Given the description of an element on the screen output the (x, y) to click on. 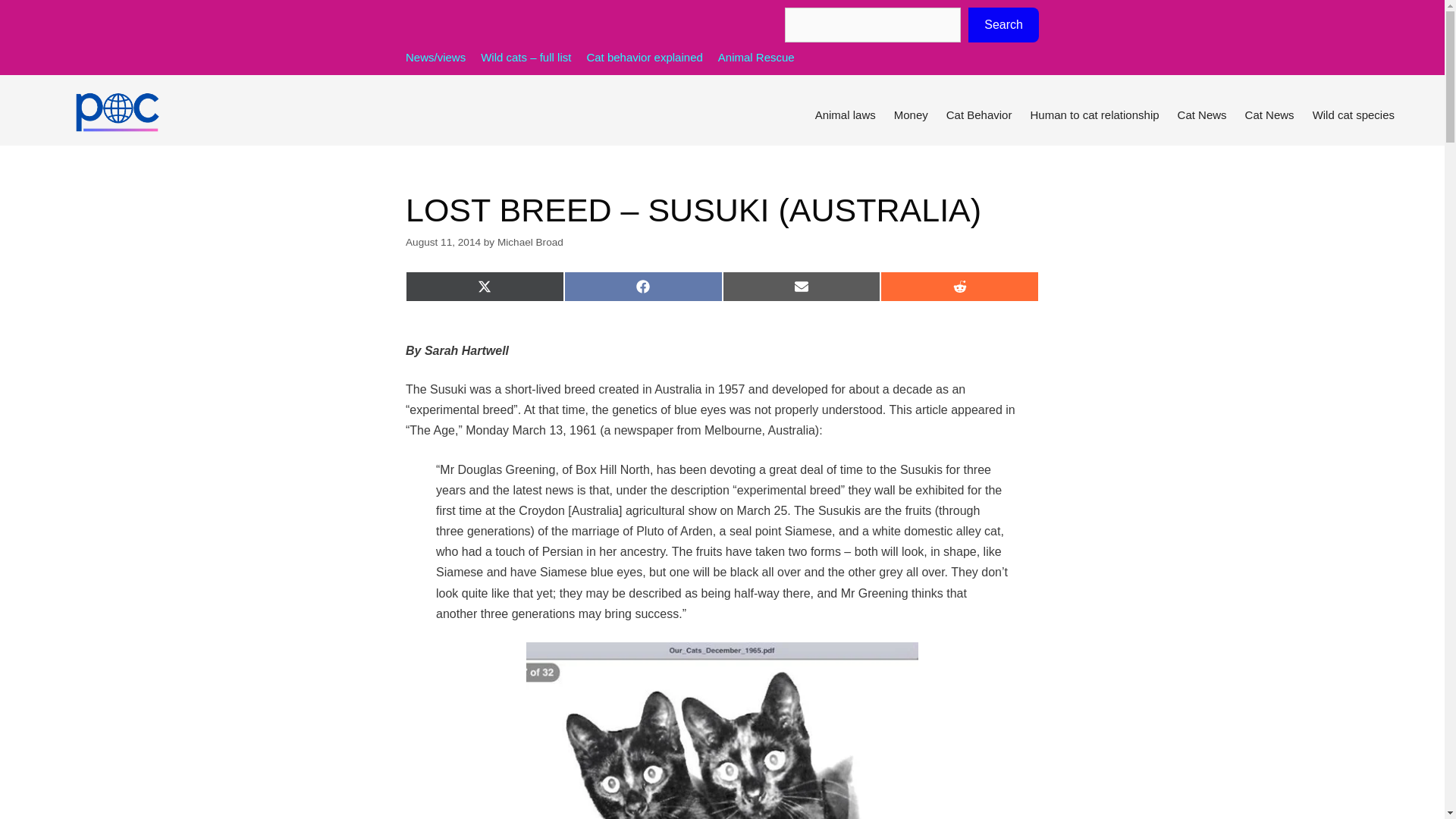
Michael Broad (530, 242)
Cat Behavior (979, 115)
Cat behavior explained (643, 56)
Money (911, 115)
Search (1003, 24)
Animal Rescue (755, 56)
Wild cat species (1353, 115)
Human to cat relationship (1093, 115)
Share on Reddit (959, 286)
Cat News (1269, 115)
